Given the description of an element on the screen output the (x, y) to click on. 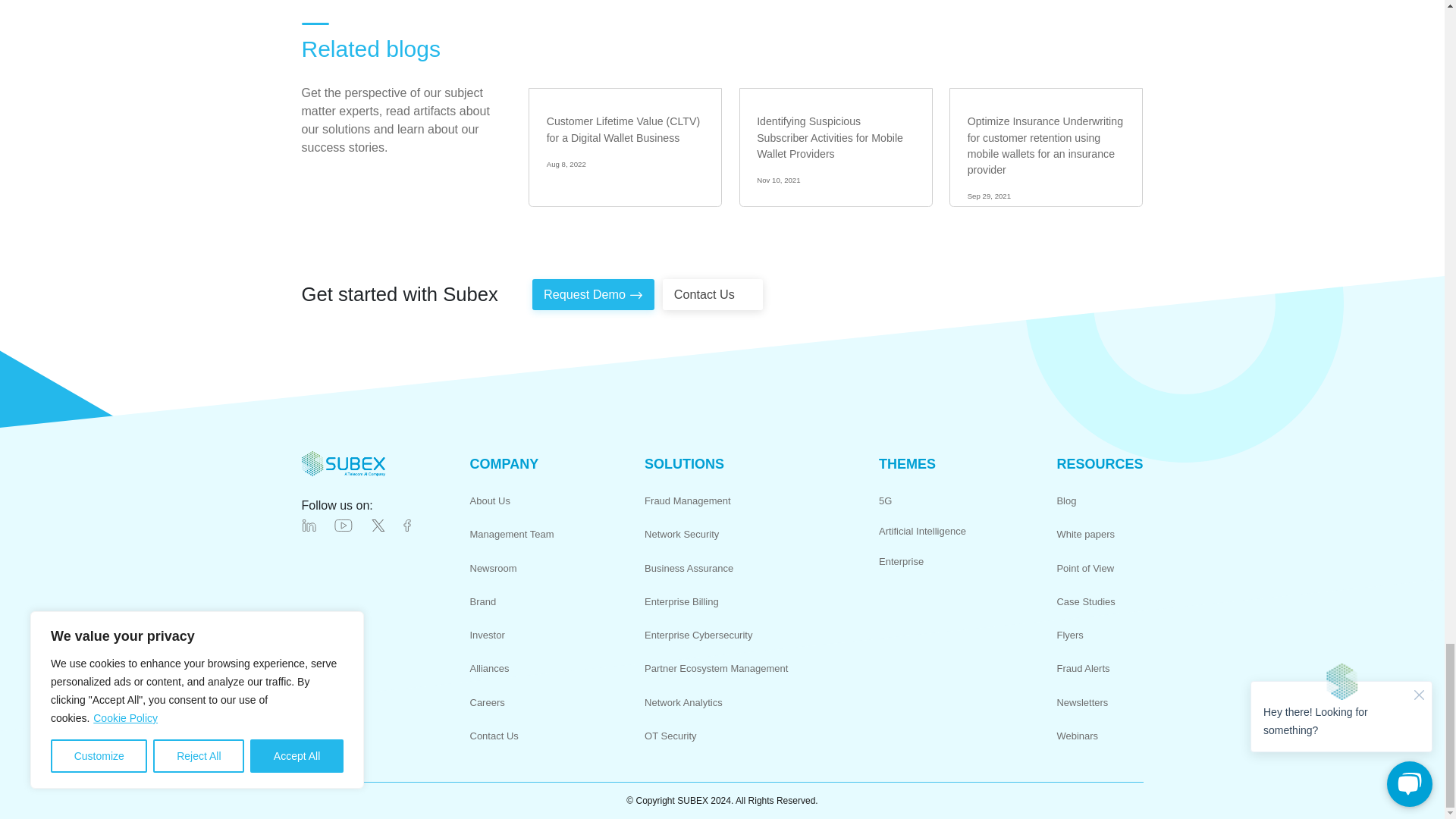
Contact Us (712, 294)
Request Demo (592, 294)
